Given the description of an element on the screen output the (x, y) to click on. 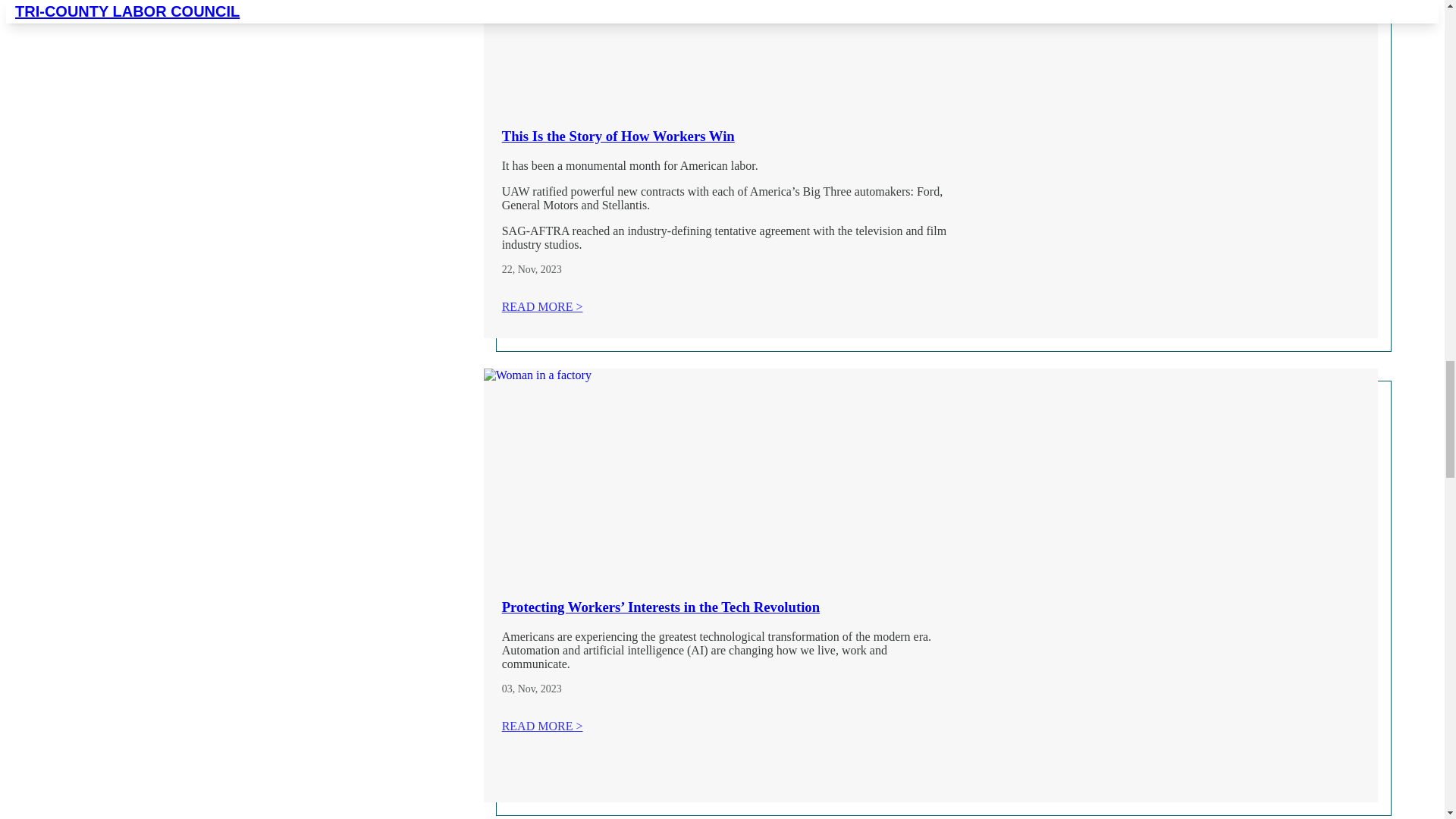
Friday, November 3, 2023 - 12:35 (540, 688)
This Is the Story of How Workers Win (618, 135)
Wednesday, November 22, 2023 - 14:27 (540, 269)
Wednesday, November 22, 2023 - 14:27 (507, 269)
Friday, November 3, 2023 - 12:35 (507, 688)
This Is the Story of How Workers Win (703, 50)
